Given the description of an element on the screen output the (x, y) to click on. 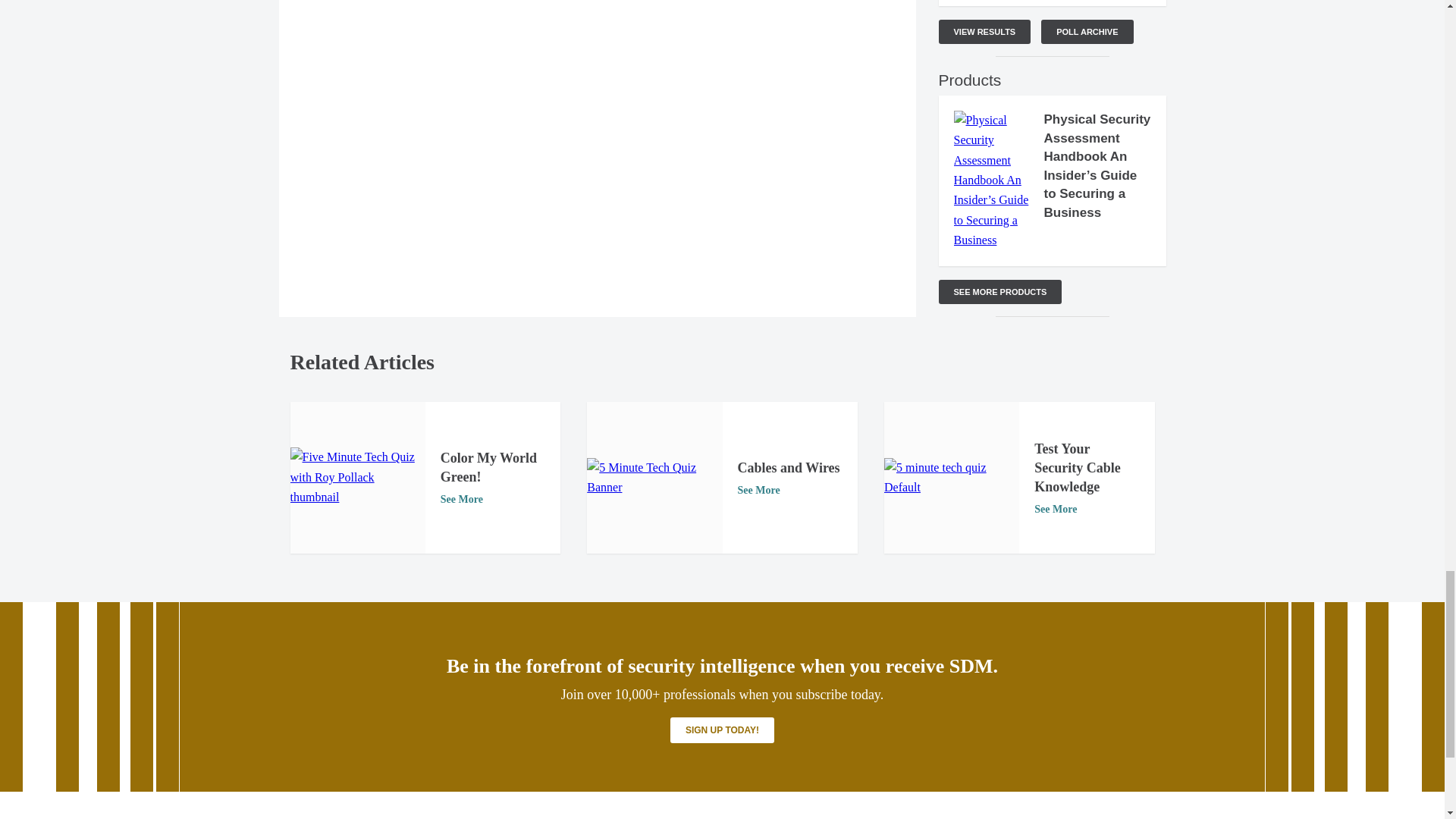
5 minute tech quiz Default (951, 477)
Five Minute Tech Quiz with Roy Pollack thumbnail (357, 476)
5 Minute Tech Quiz Banner (654, 477)
